Given the description of an element on the screen output the (x, y) to click on. 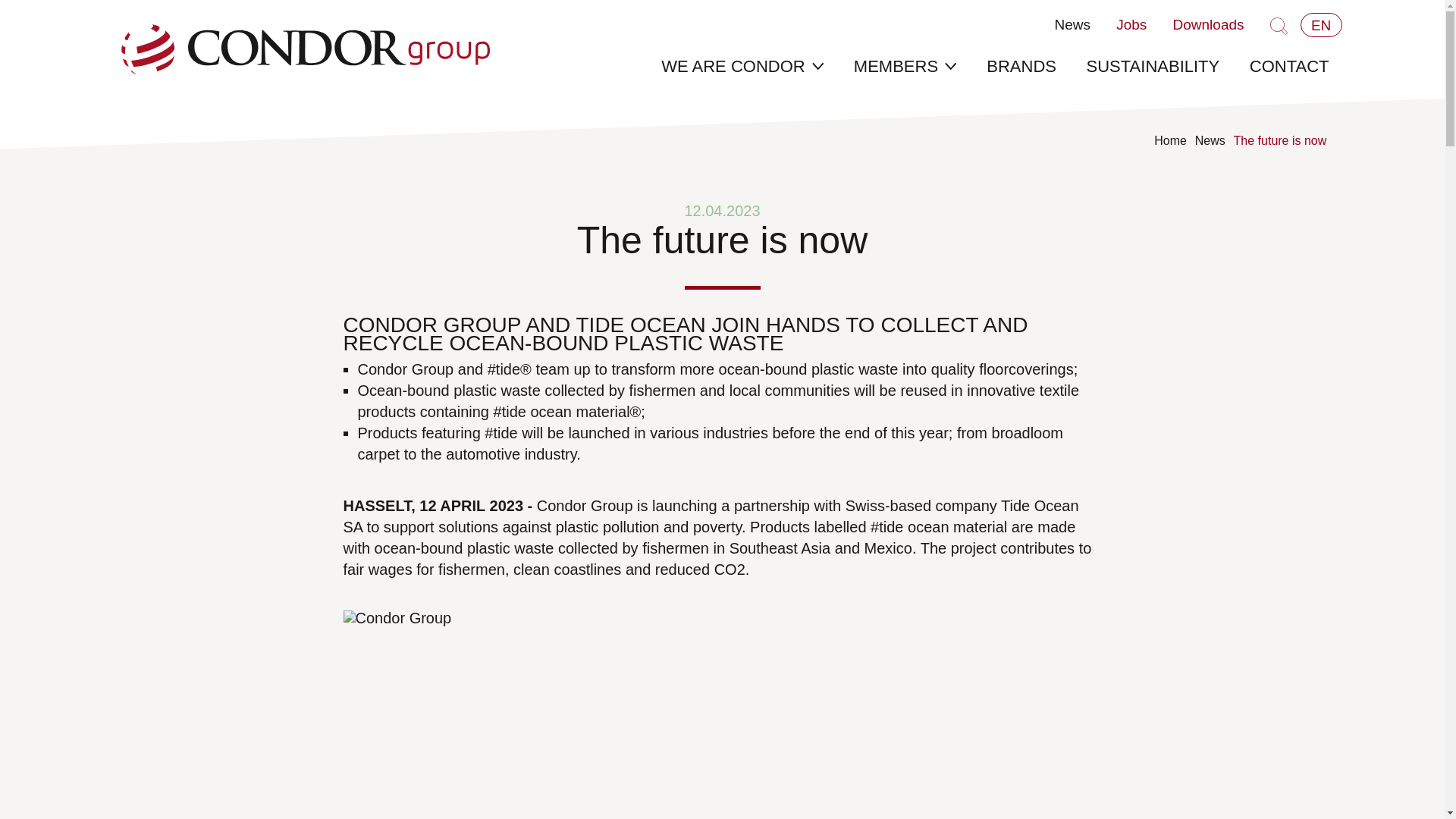
Condor Group (305, 49)
CONTACT (1288, 73)
Downloads (1207, 19)
News (1209, 140)
MEMBERS (904, 73)
Home (1170, 140)
BRANDS (1020, 73)
Jobs (1130, 19)
WE ARE CONDOR (742, 73)
SUSTAINABILITY (1152, 73)
